Given the description of an element on the screen output the (x, y) to click on. 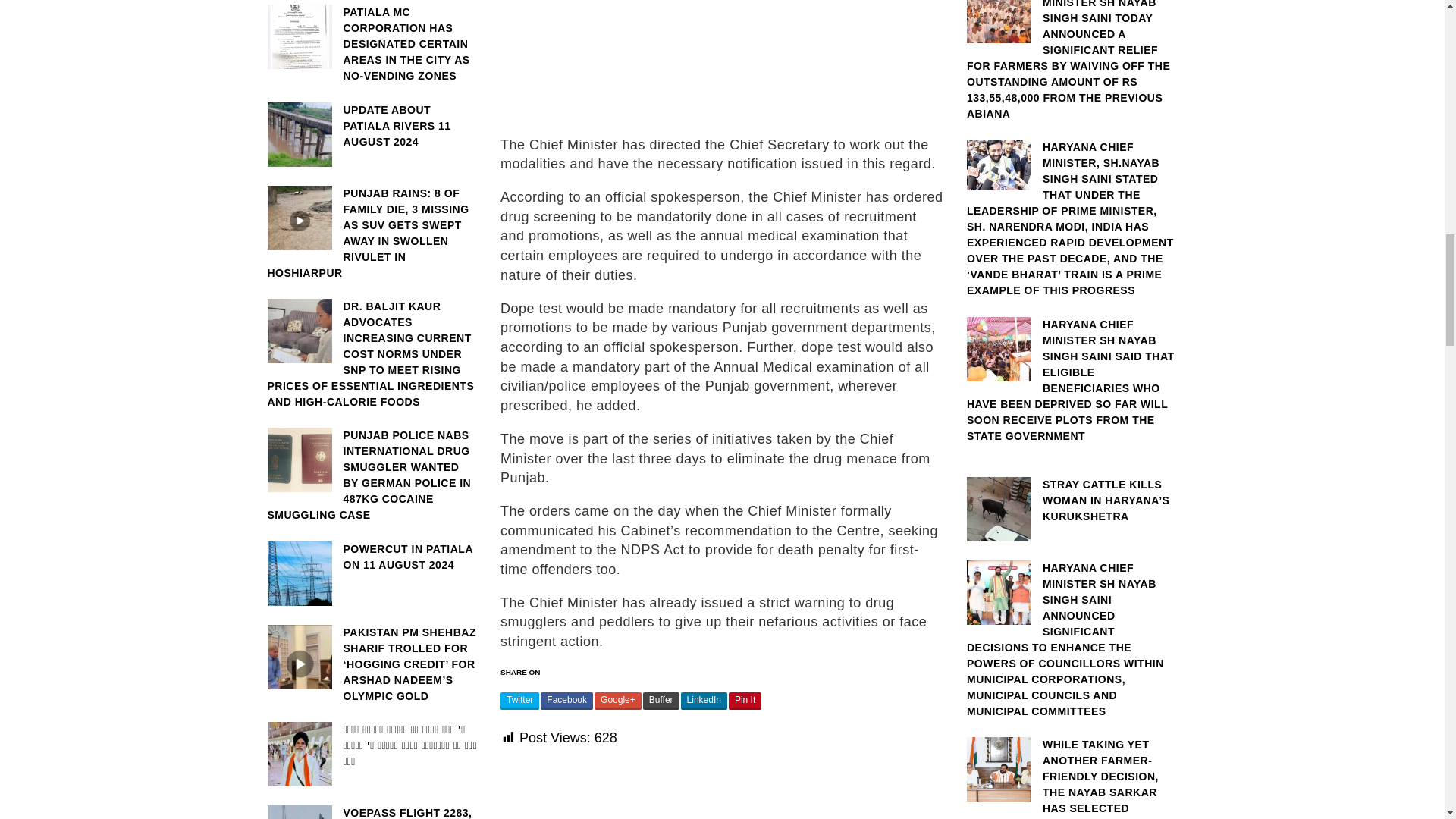
Twitter (519, 701)
Pin It (745, 701)
LinkedIn (703, 701)
Facebook (566, 701)
Buffer (661, 701)
